Given the description of an element on the screen output the (x, y) to click on. 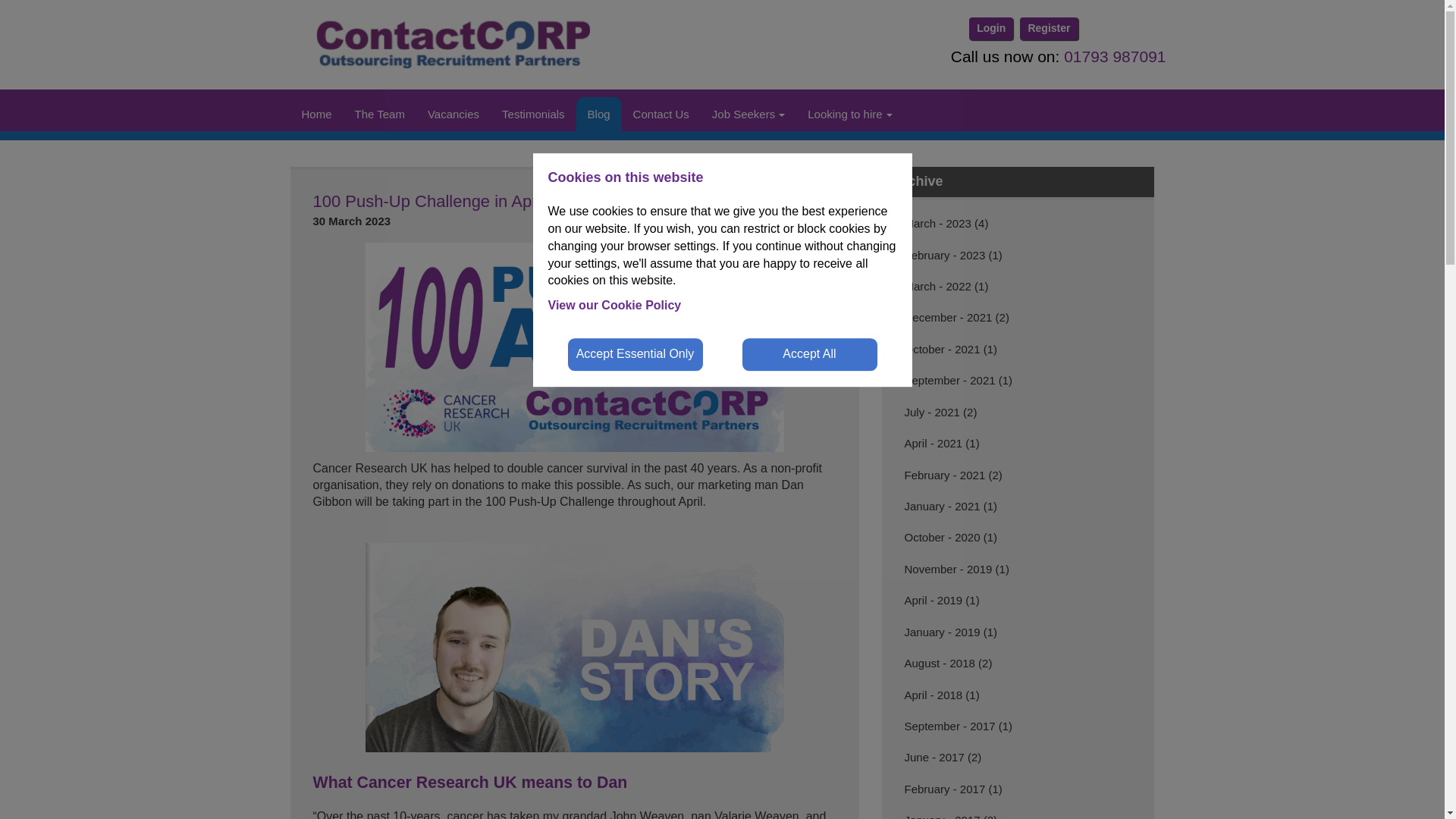
Vacancies (453, 114)
linkedin (1097, 29)
Looking to hire (849, 114)
The Team (379, 114)
Testimonials (533, 114)
Blog (598, 114)
Home (315, 114)
twitter (1153, 29)
Register (1048, 28)
Job Seekers (748, 114)
Login (991, 28)
facebook (1125, 29)
Contact Us (660, 114)
